Given the description of an element on the screen output the (x, y) to click on. 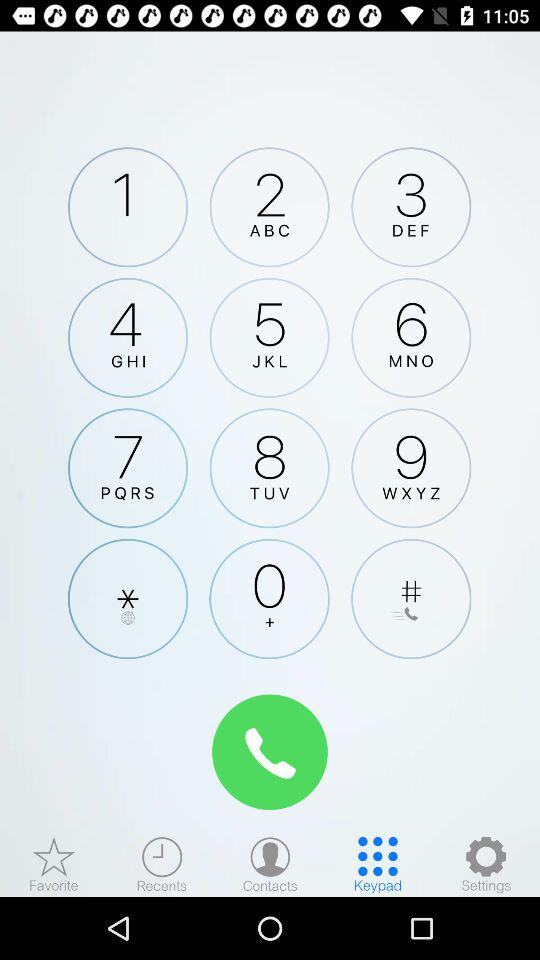
go to recents (161, 864)
